Given the description of an element on the screen output the (x, y) to click on. 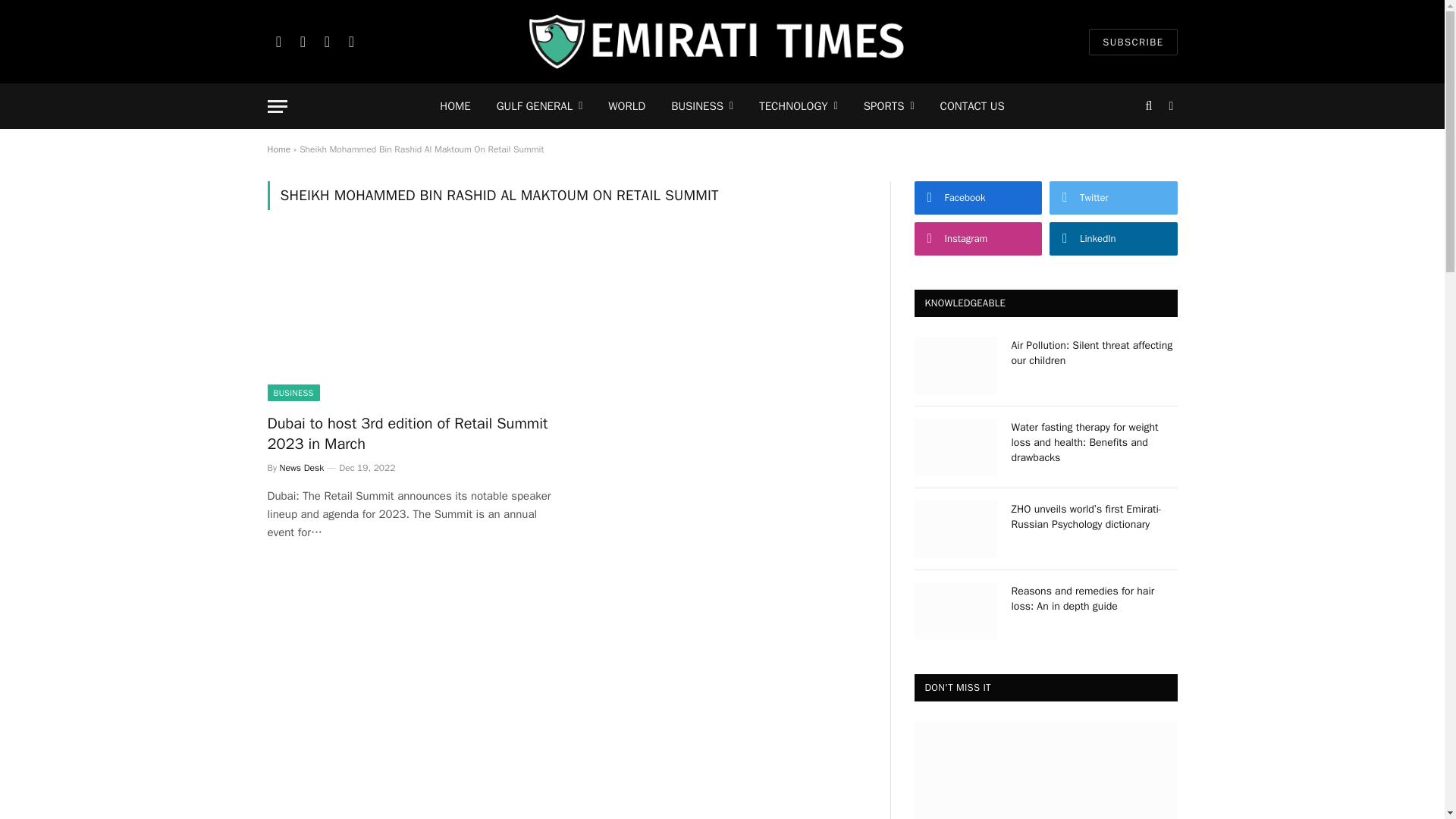
SUBSCRIBE (1132, 41)
HOME (454, 105)
Emirati Times (722, 41)
GULF GENERAL (539, 105)
